Given the description of an element on the screen output the (x, y) to click on. 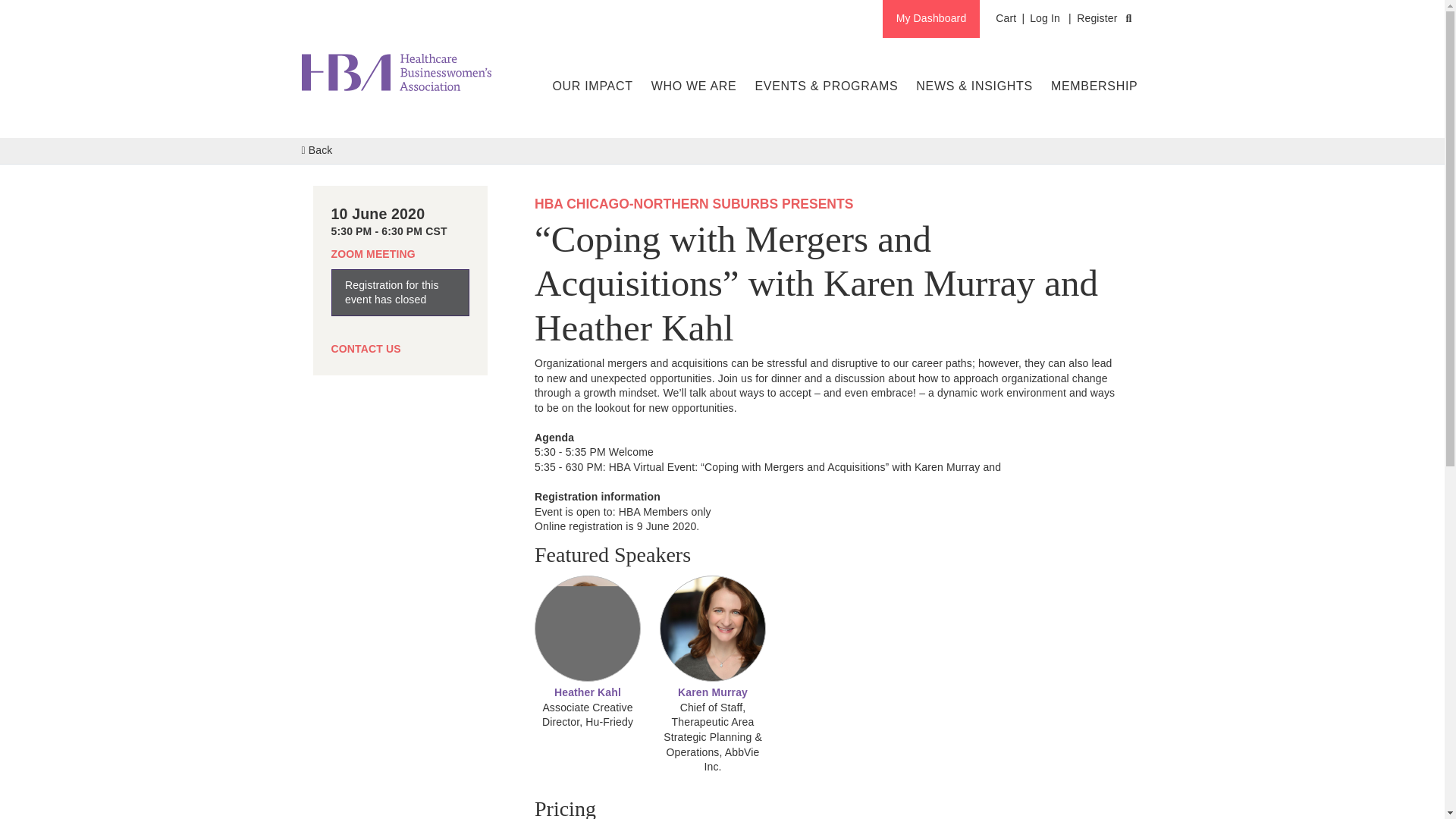
MEMBERSHIP (1093, 85)
HBA Logo (396, 76)
WHO WE ARE (694, 85)
Heather Kahl (587, 692)
My Dashboard (930, 18)
CONTACT US (365, 348)
Log In (1044, 18)
 Back (317, 150)
Register (1096, 18)
OUR IMPACT (592, 85)
